Given the description of an element on the screen output the (x, y) to click on. 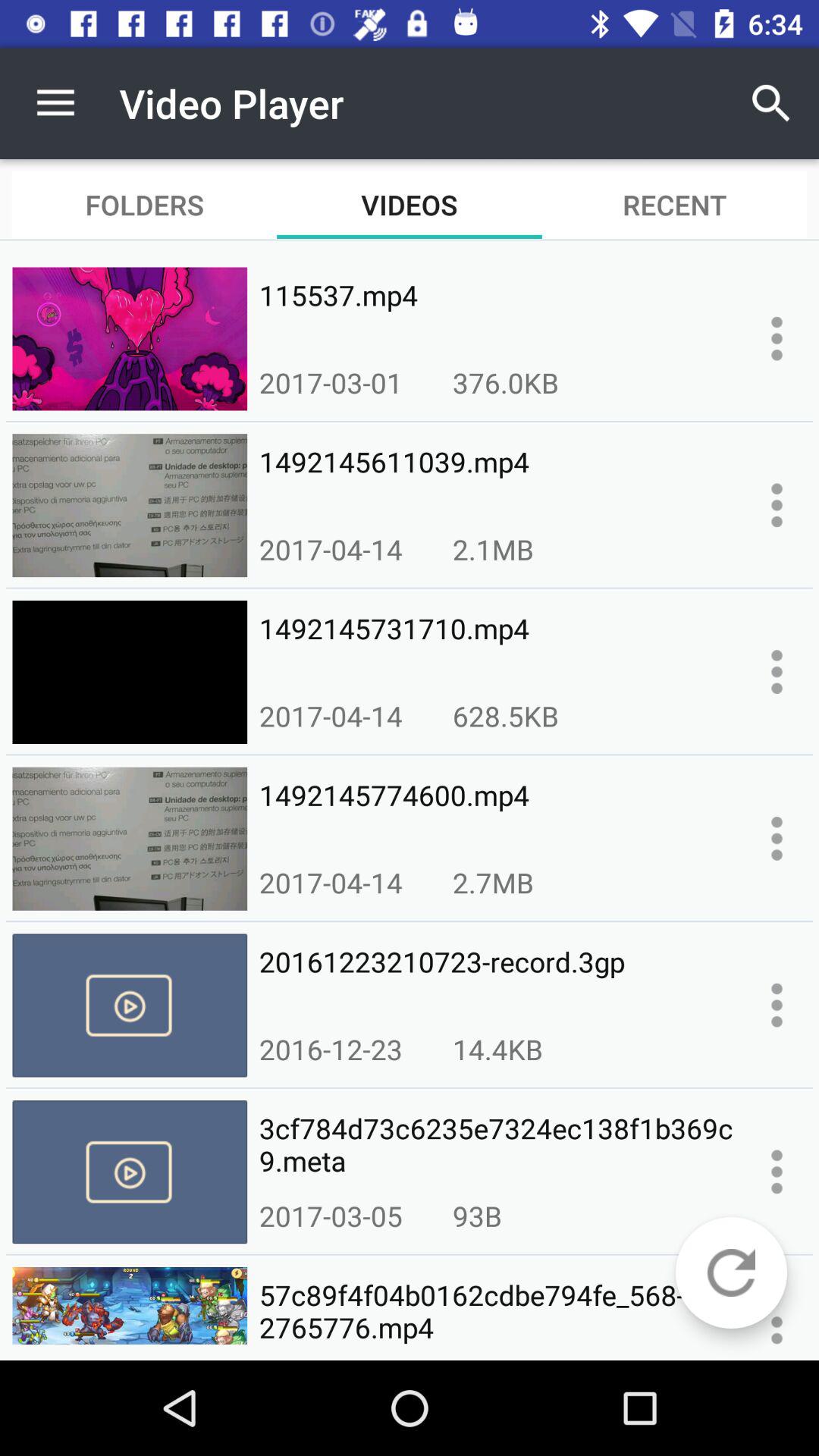
show more options (776, 338)
